Given the description of an element on the screen output the (x, y) to click on. 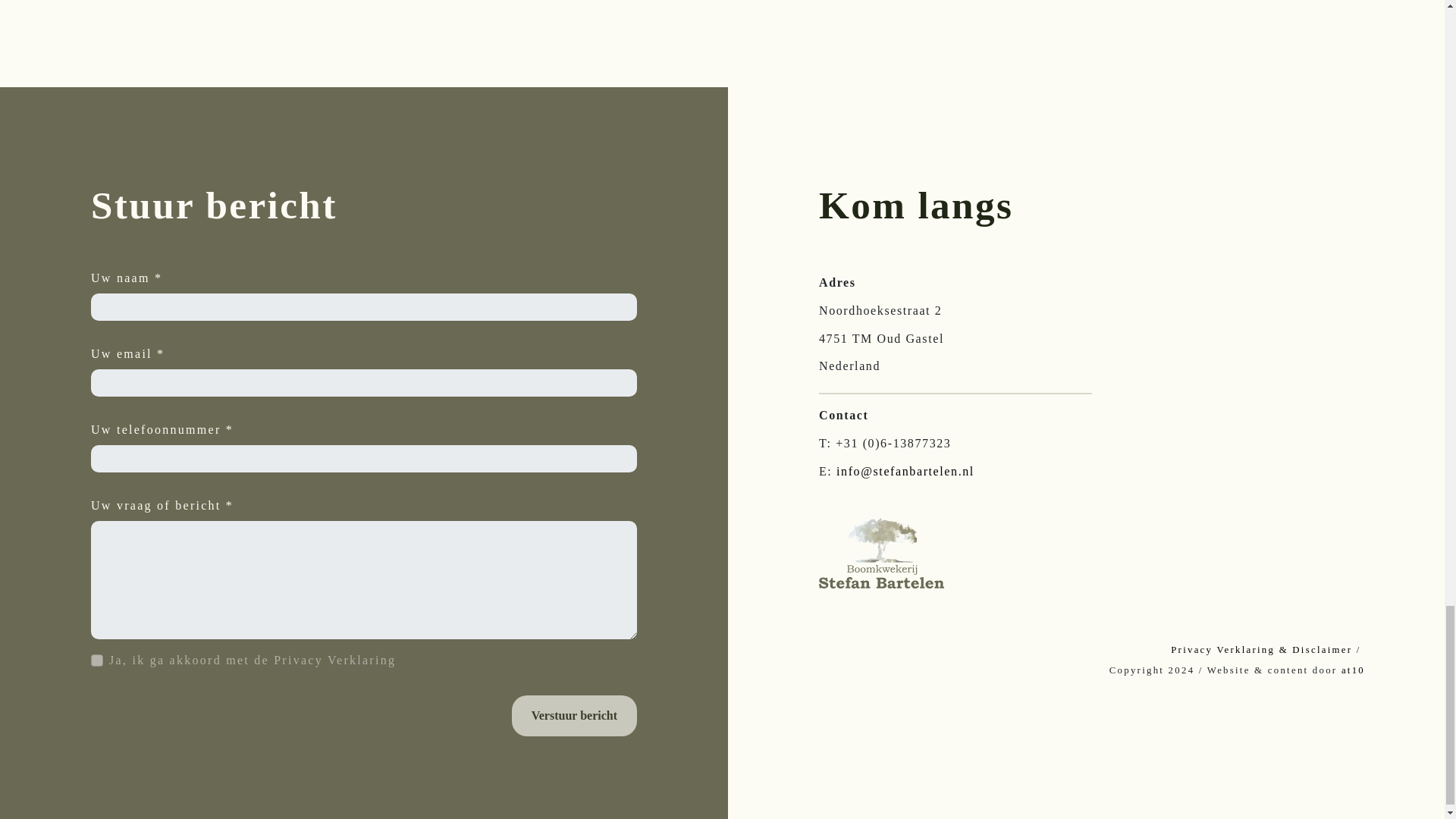
at10 (1352, 670)
Verstuur bericht (574, 715)
on (96, 660)
Privacy Verklaring (334, 659)
